Given the description of an element on the screen output the (x, y) to click on. 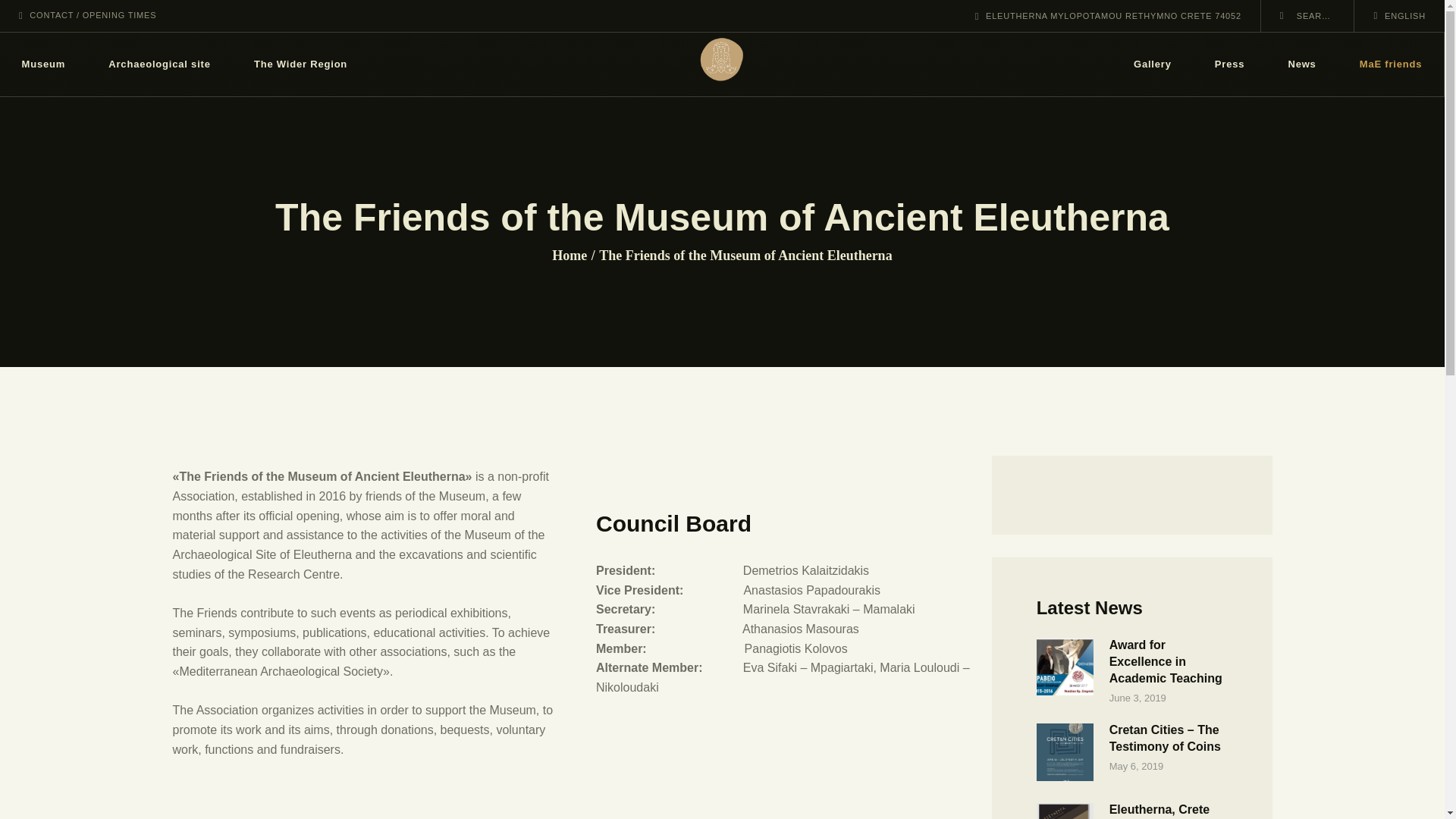
Museum (43, 64)
The Wider Region (299, 64)
ENGLISH (1399, 15)
Press (1229, 64)
Archaeological site (159, 64)
Gallery (1152, 64)
MaE friends (1391, 64)
News (1302, 64)
